Given the description of an element on the screen output the (x, y) to click on. 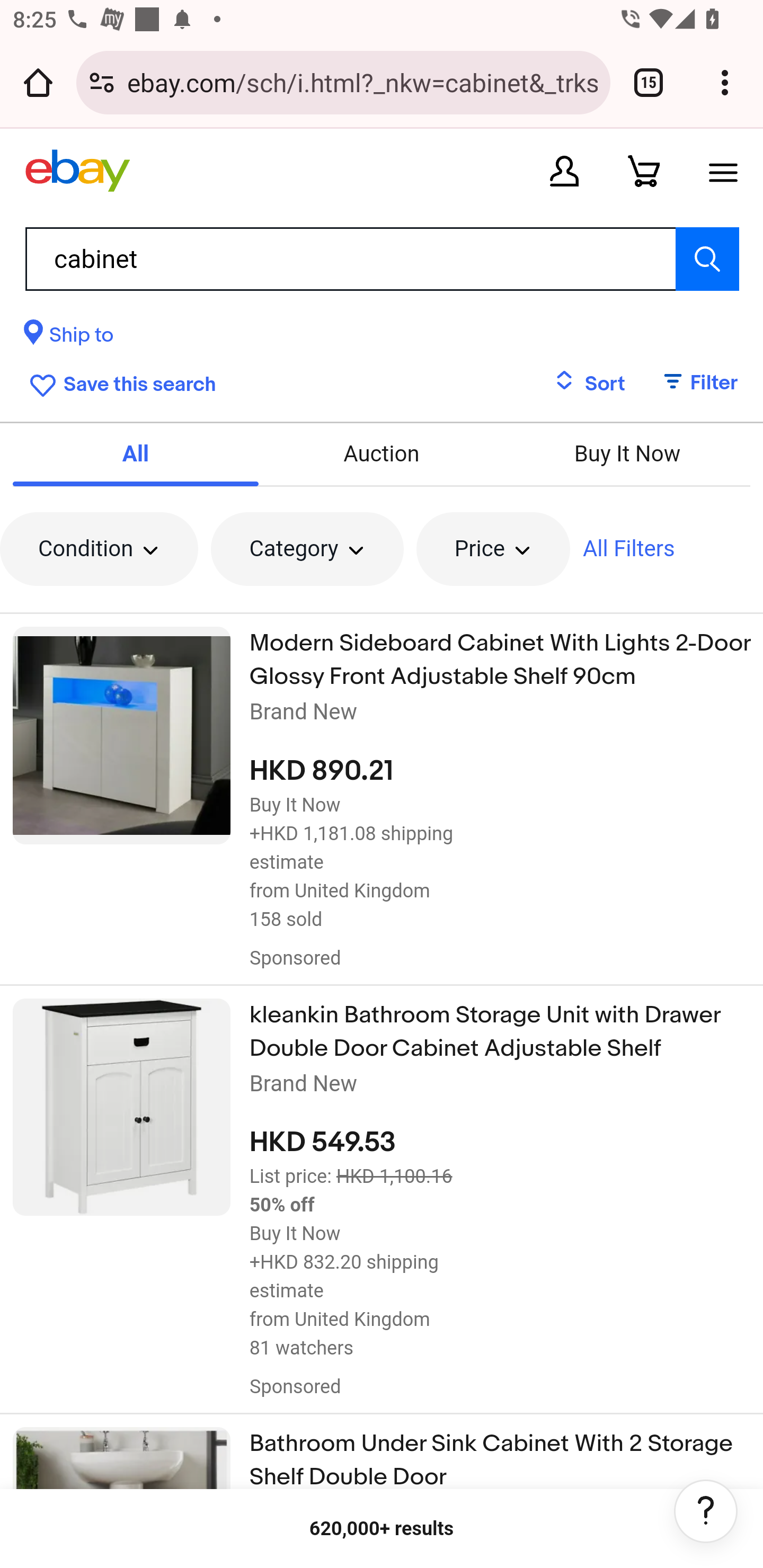
Open the home page (38, 82)
Connection is secure (101, 82)
Switch or close tabs (648, 82)
Customize and control Google Chrome (724, 82)
Open Menu (723, 170)
My eBay (564, 170)
Your shopping cart is empty (643, 170)
eBay Home (77, 170)
cabinet (381, 258)
Search (707, 258)
Ship to  (68, 338)
Sort (589, 384)
Filter (690, 384)
Save this search cabinet search (118, 382)
All selected (135, 453)
Auction (381, 453)
Buy It Now (626, 453)
Condition (99, 548)
Category (306, 548)
Price (492, 548)
All Filters (628, 548)
Help (705, 1511)
